Given the description of an element on the screen output the (x, y) to click on. 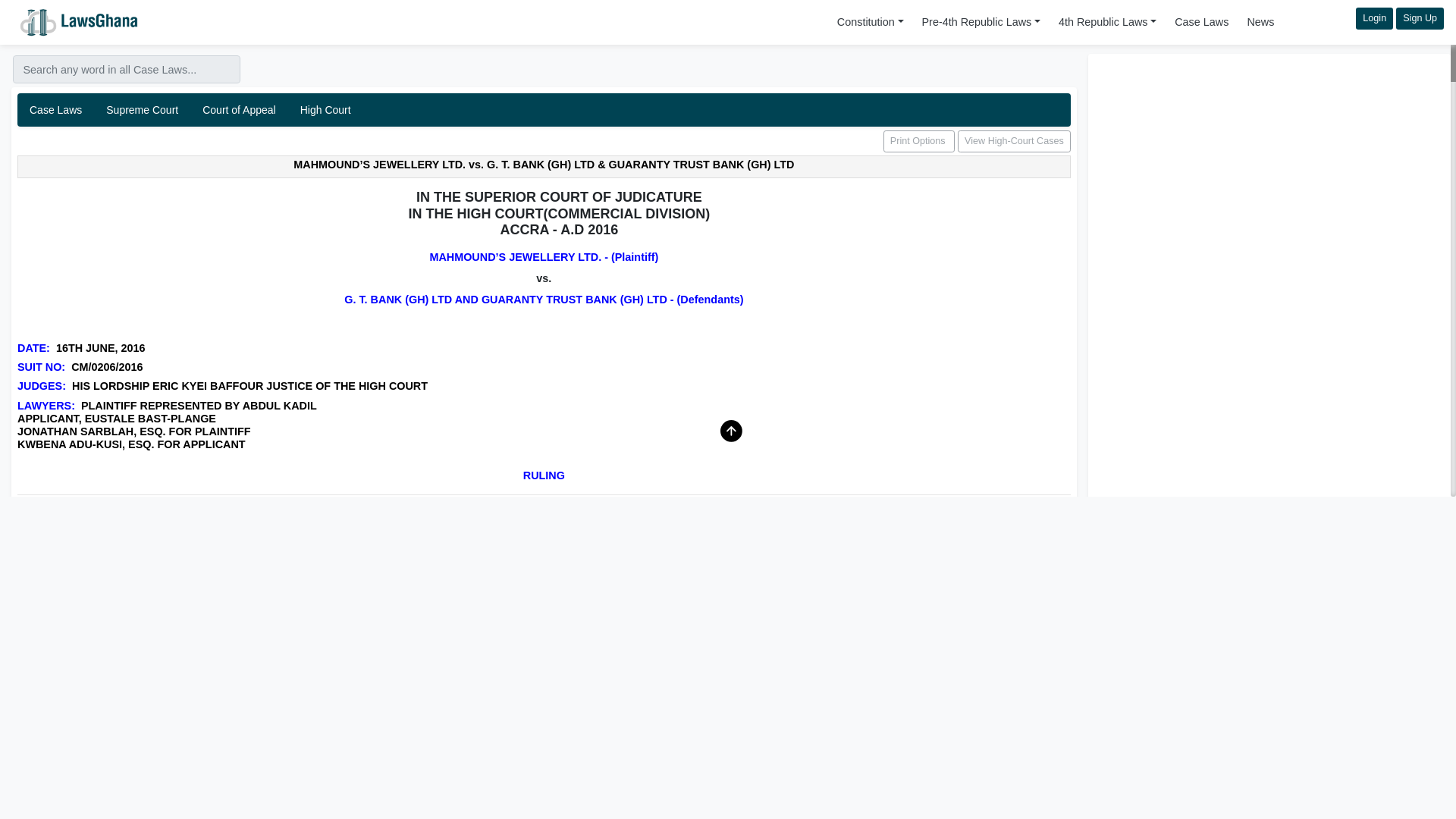
Case Laws (1201, 21)
Constitution (870, 21)
Login (1374, 18)
Print Options  (919, 141)
4th Republic Laws (1106, 21)
Sign Up (1420, 18)
Case Laws (55, 109)
Supreme Court (142, 109)
Pre-4th Republic Laws (543, 109)
